Given the description of an element on the screen output the (x, y) to click on. 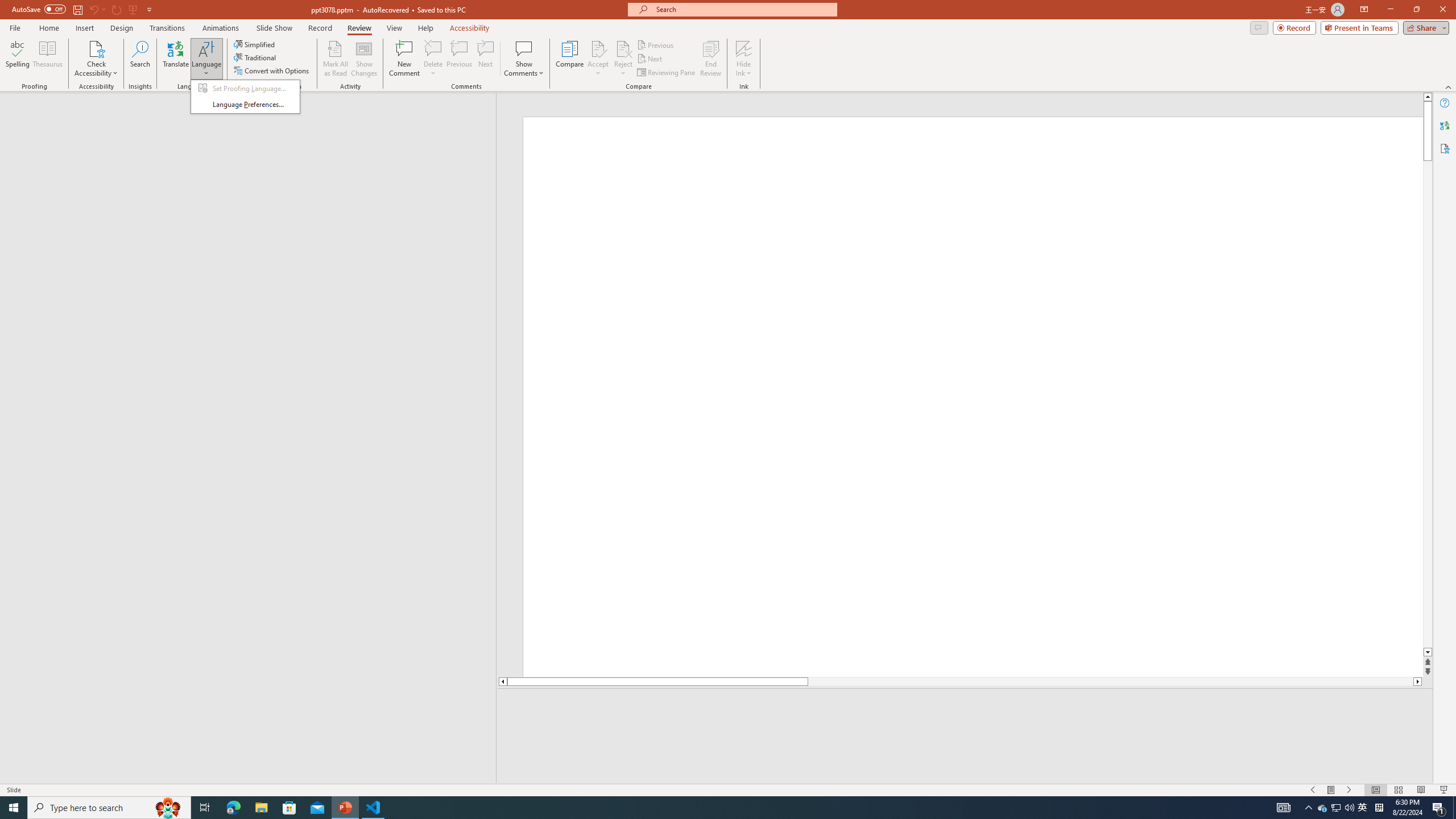
Accept Change (598, 48)
Simplified (254, 44)
Slide Show Previous On (1313, 790)
